Given the description of an element on the screen output the (x, y) to click on. 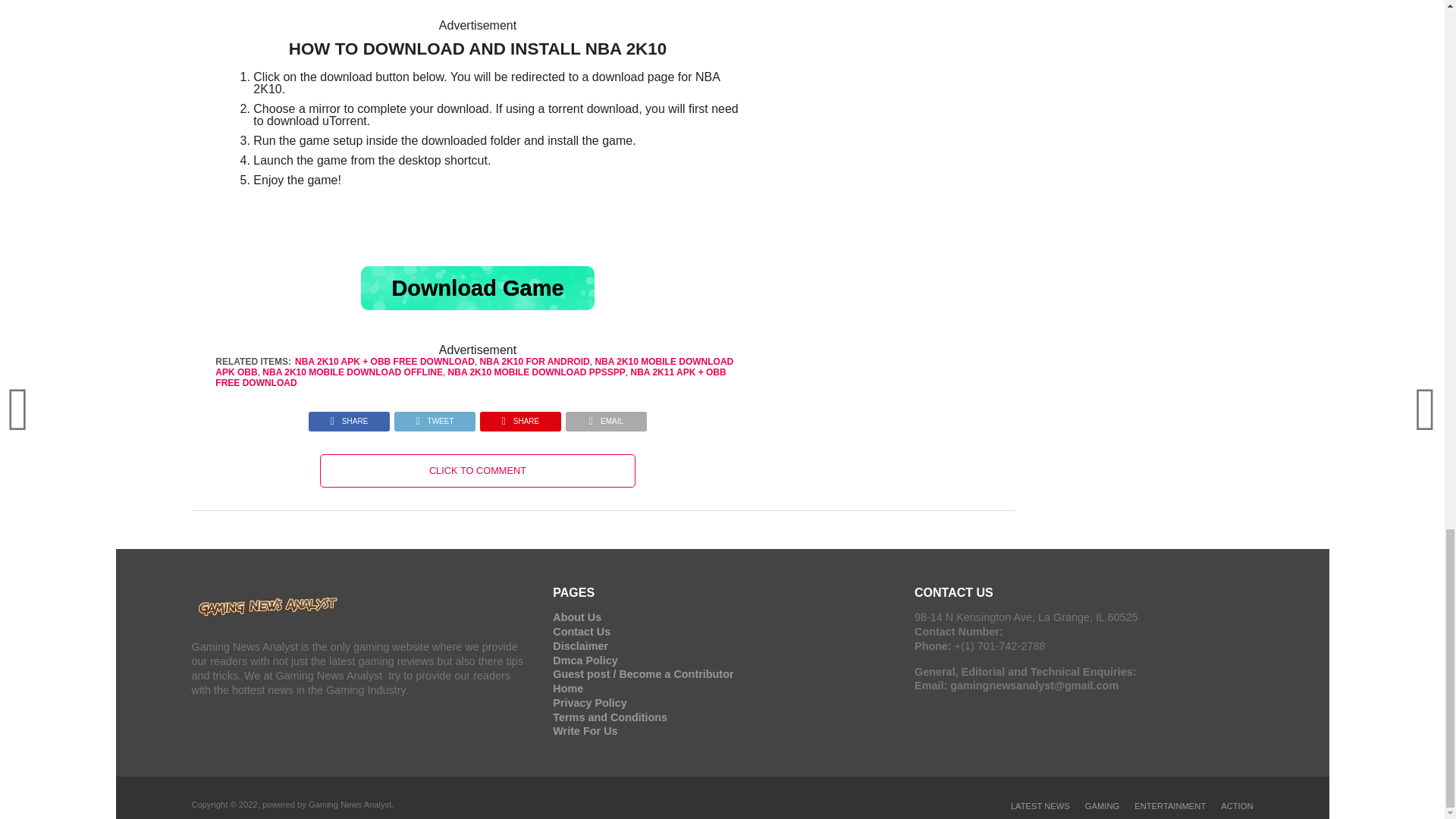
SHARE (349, 417)
Download Game (477, 288)
NBA 2K10 MOBILE DOWNLOAD OFFLINE (352, 371)
NBA 2K10 MOBILE DOWNLOAD APK OBB (474, 366)
NBA 2K10 FOR ANDROID (534, 361)
Pin This Post (520, 417)
Share on Facebook (349, 417)
EMAIL (605, 417)
Download Game (477, 288)
NBA 2K10 MOBILE DOWNLOAD PPSSPP (537, 371)
TWEET (434, 417)
Tweet This Post (434, 417)
SHARE (520, 417)
